Given the description of an element on the screen output the (x, y) to click on. 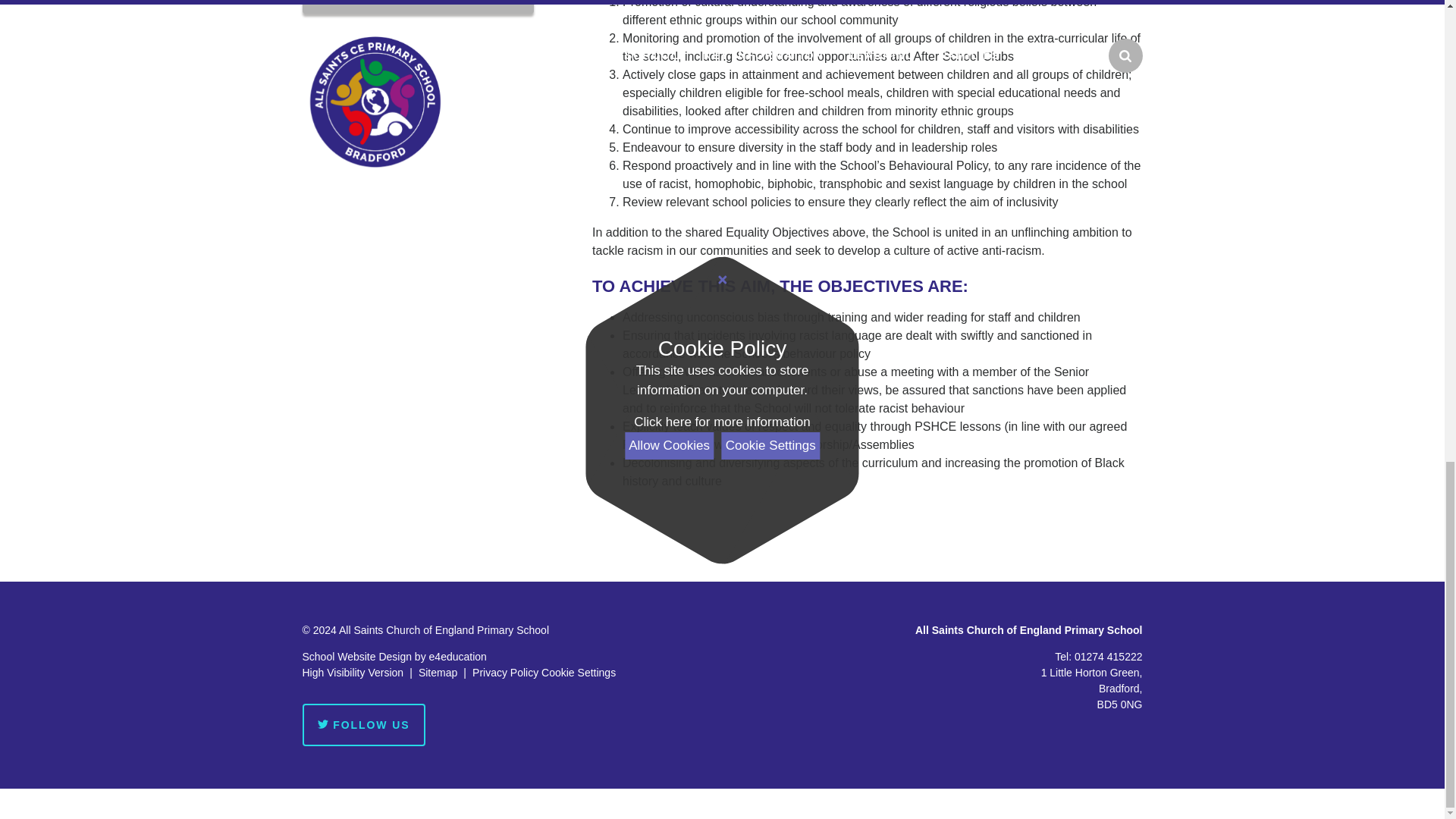
Cookie Settings (578, 672)
